Given the description of an element on the screen output the (x, y) to click on. 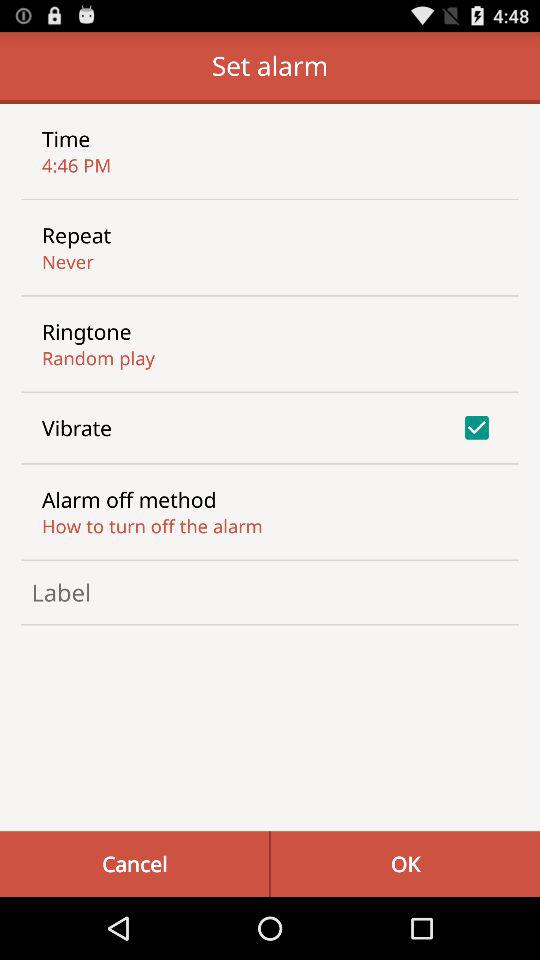
scroll until vibrate item (77, 428)
